Given the description of an element on the screen output the (x, y) to click on. 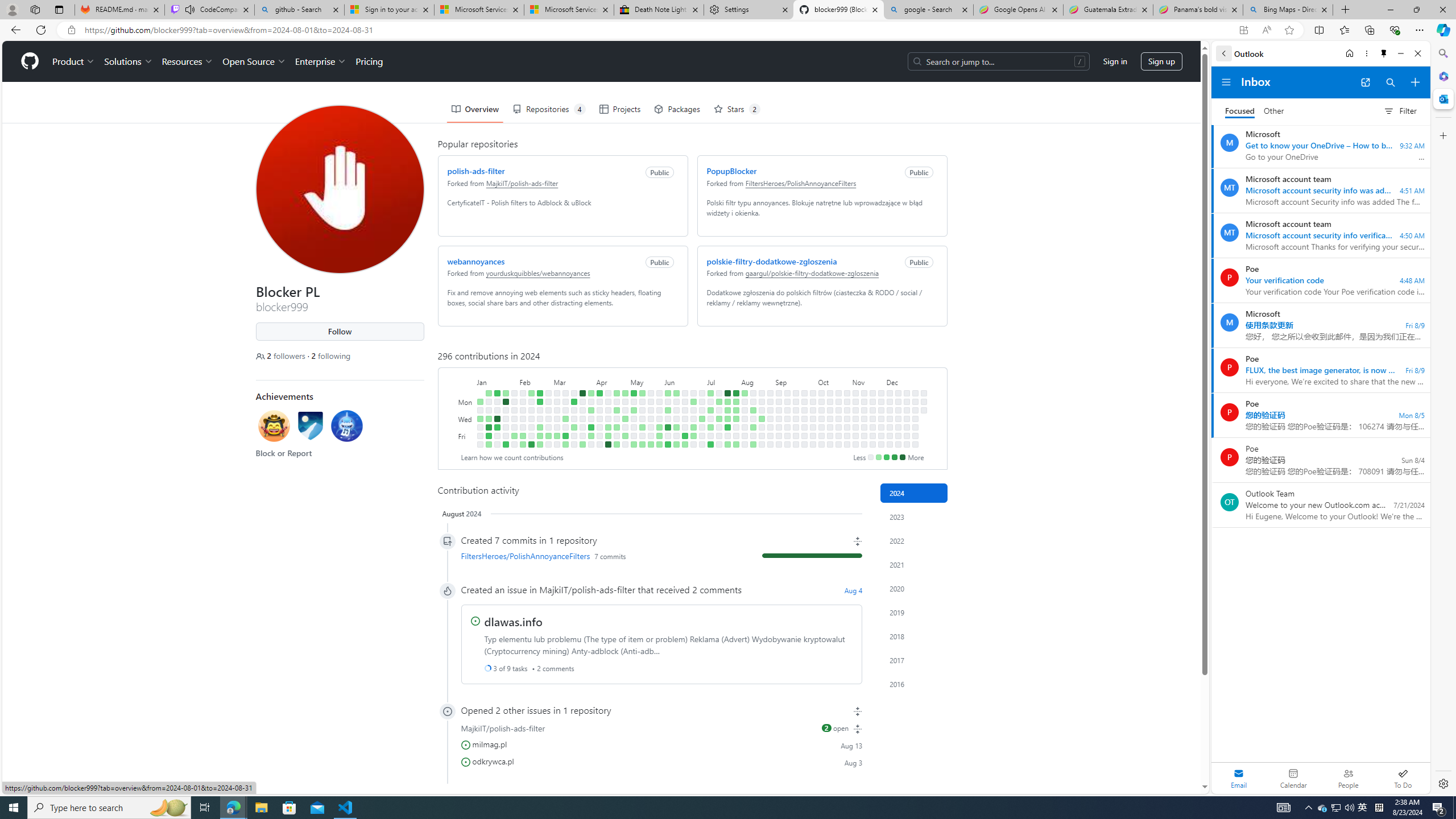
Product (74, 60)
No contributions on May 2nd. (624, 427)
No contributions on June 26th. (693, 418)
1 contribution on July 31st. (735, 418)
No contributions on November 24th. (880, 392)
No contributions on December 9th. (897, 401)
12 contributions on April 20th. (607, 444)
Wednesday (465, 418)
No contributions on June 5th. (667, 418)
No contributions on October 9th. (821, 418)
2 contributions on March 21st. (573, 427)
No contributions on August 2nd. (735, 435)
